Given the description of an element on the screen output the (x, y) to click on. 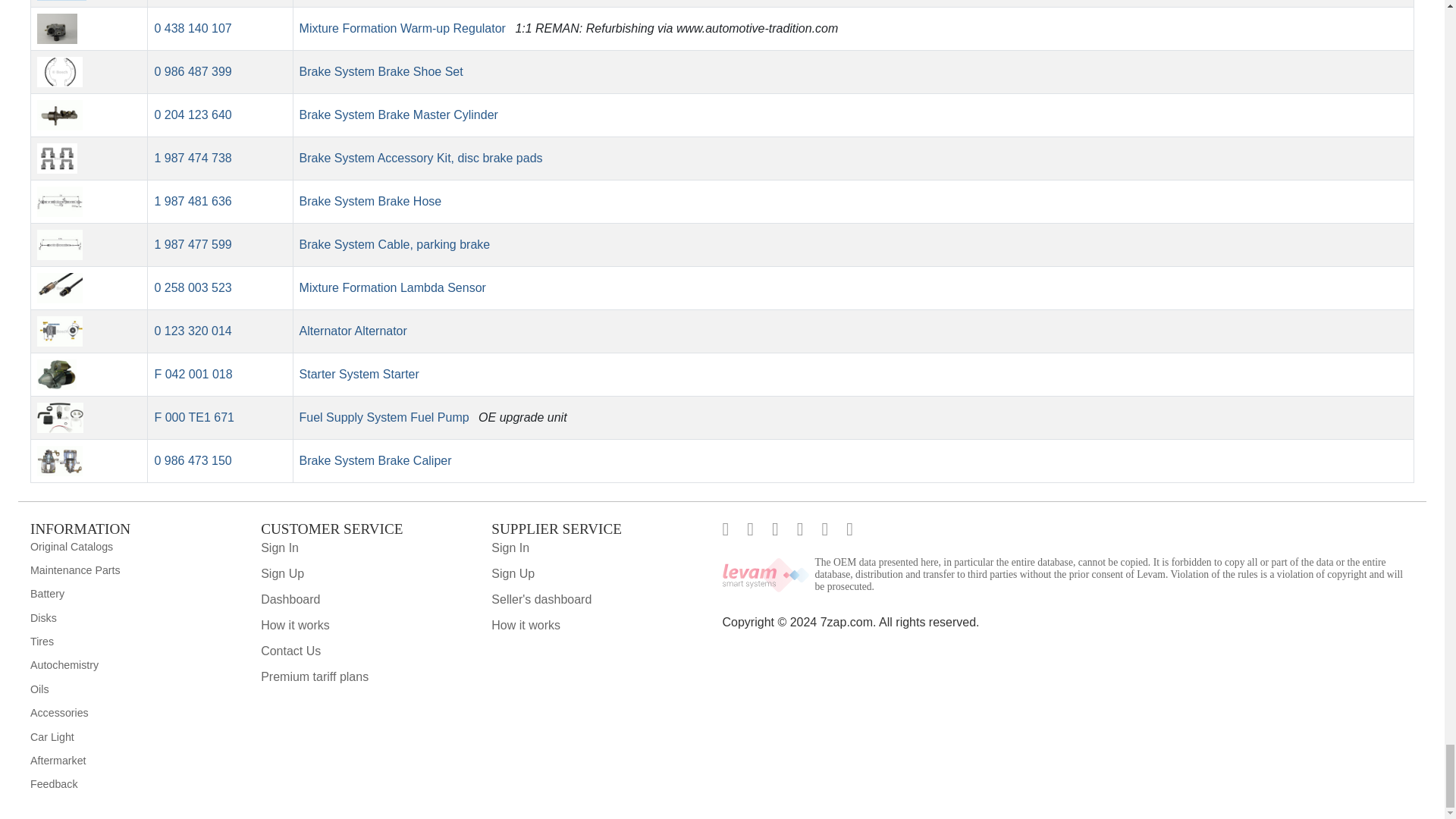
Whatsapp (834, 529)
Viber (809, 529)
Powered by Levam (767, 574)
Telegram (857, 529)
Powered by Levam (1113, 574)
Twitter (758, 529)
Facebook (734, 529)
Pinterest (783, 529)
